Given the description of an element on the screen output the (x, y) to click on. 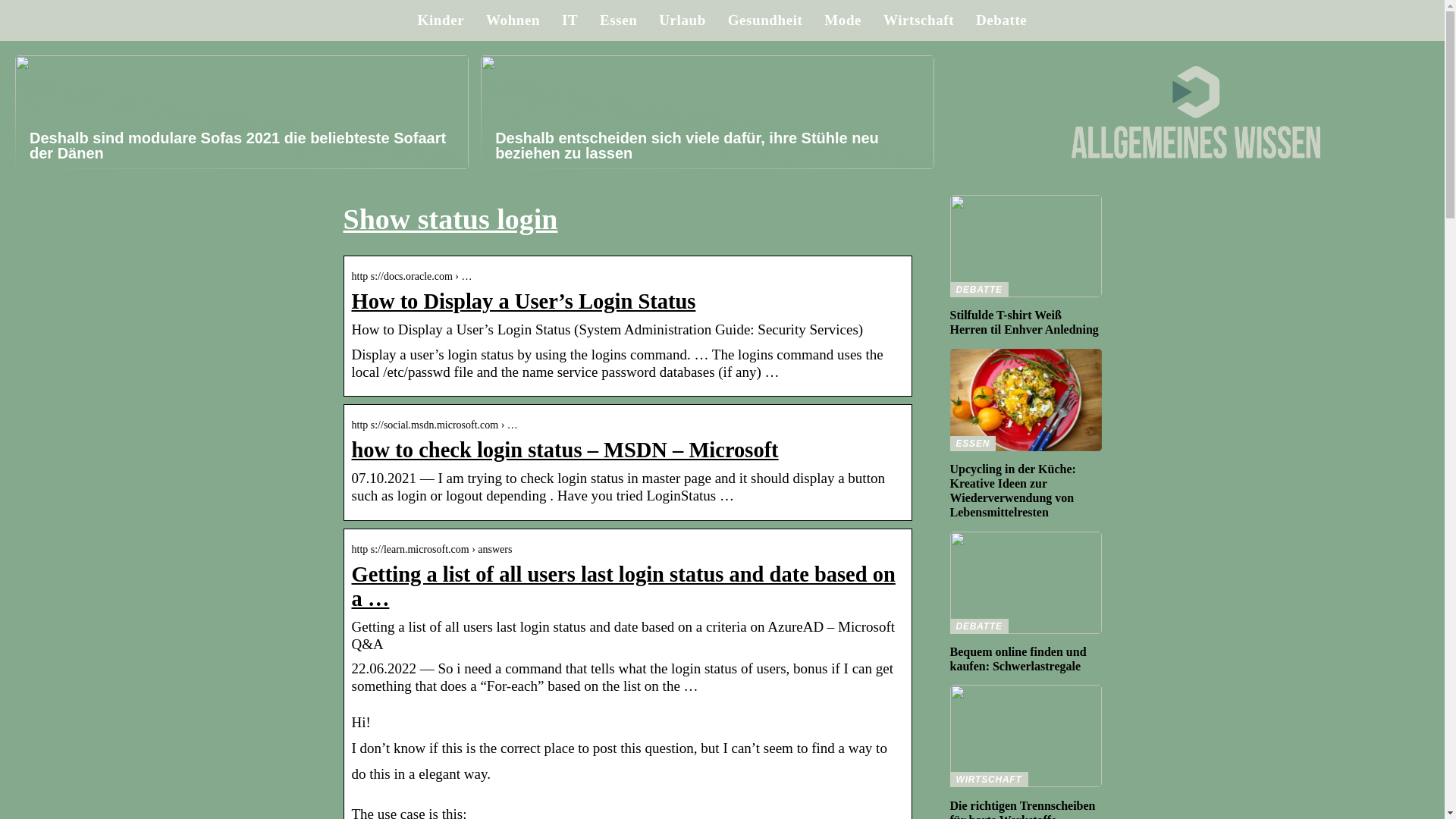
Wohnen (513, 19)
Mode (842, 19)
Essen (618, 19)
Debatte (1001, 19)
IT (570, 19)
Wirtschaft (918, 19)
Urlaub (682, 19)
Kinder (440, 19)
Gesundheit (765, 19)
